Given the description of an element on the screen output the (x, y) to click on. 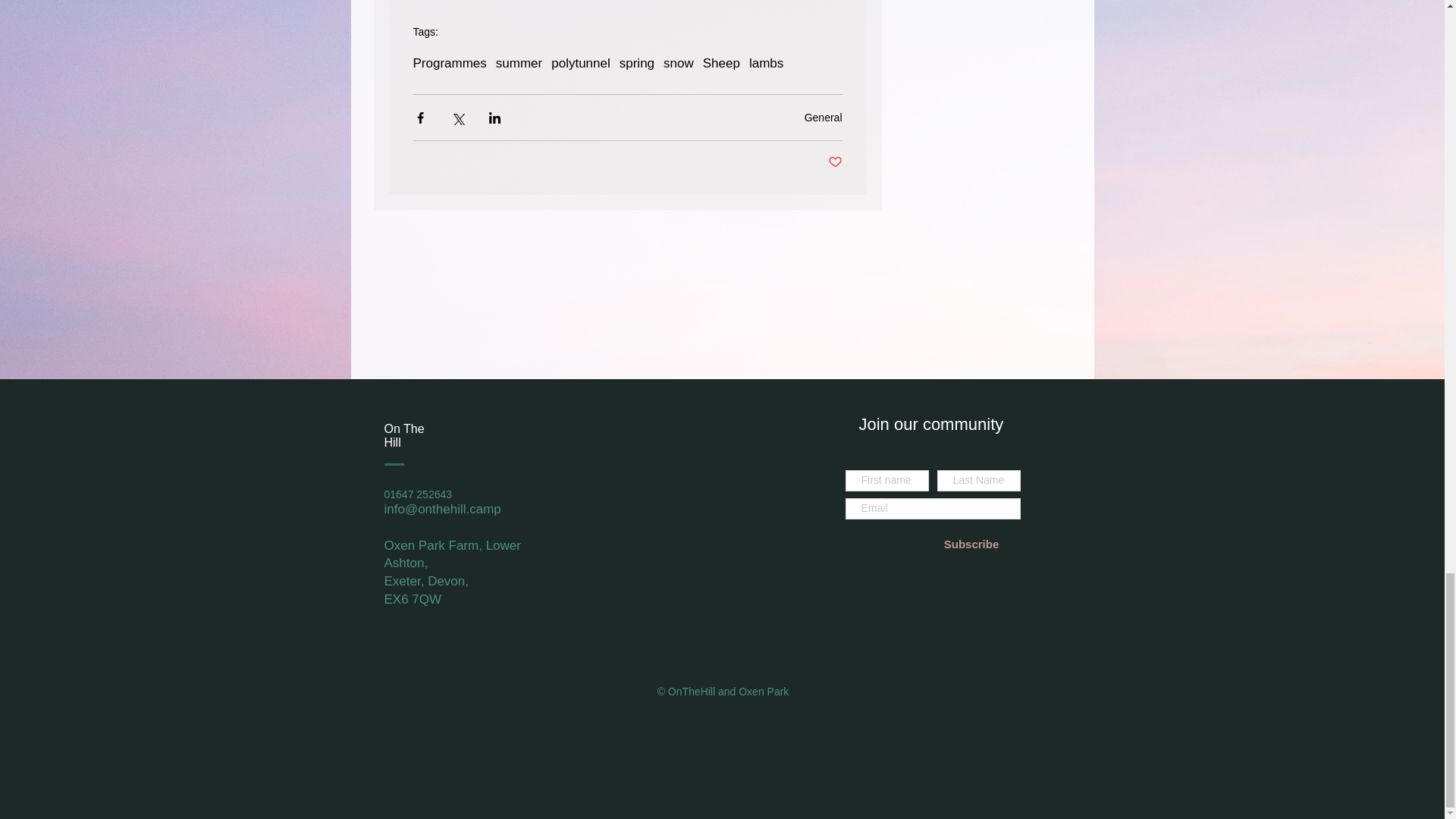
Sheep (721, 63)
polytunnel (580, 63)
Programmes (449, 63)
snow (678, 63)
General (824, 117)
Post not marked as liked (835, 162)
spring (636, 63)
lambs (766, 63)
summer (518, 63)
